Given the description of an element on the screen output the (x, y) to click on. 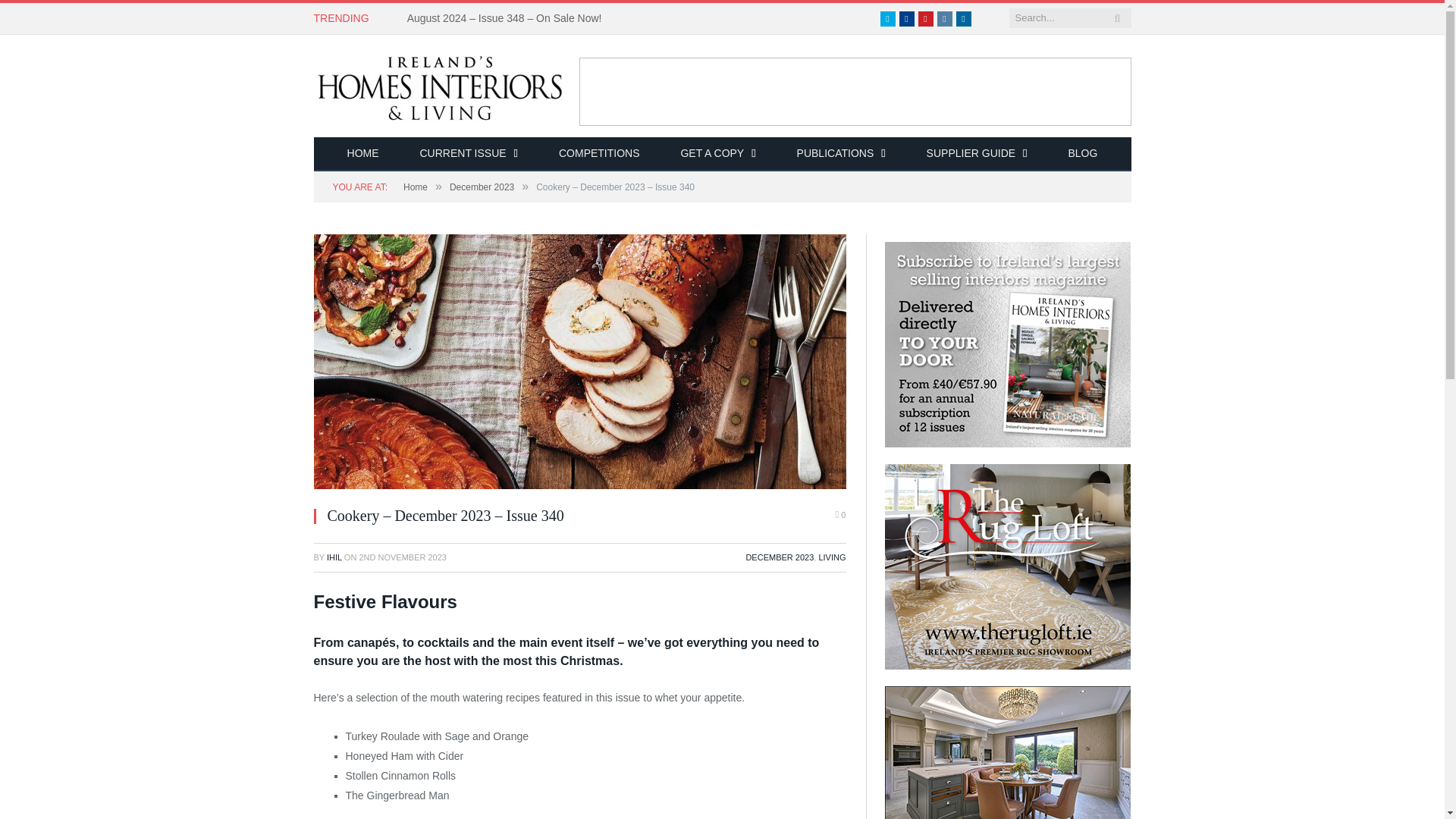
CURRENT ISSUE (468, 154)
COMPETITIONS (599, 154)
Facebook (906, 18)
Twitter (887, 18)
HOME (363, 154)
Pinterest (925, 18)
GET A COPY (717, 154)
Linkedin (963, 18)
Instagram (944, 18)
